Given the description of an element on the screen output the (x, y) to click on. 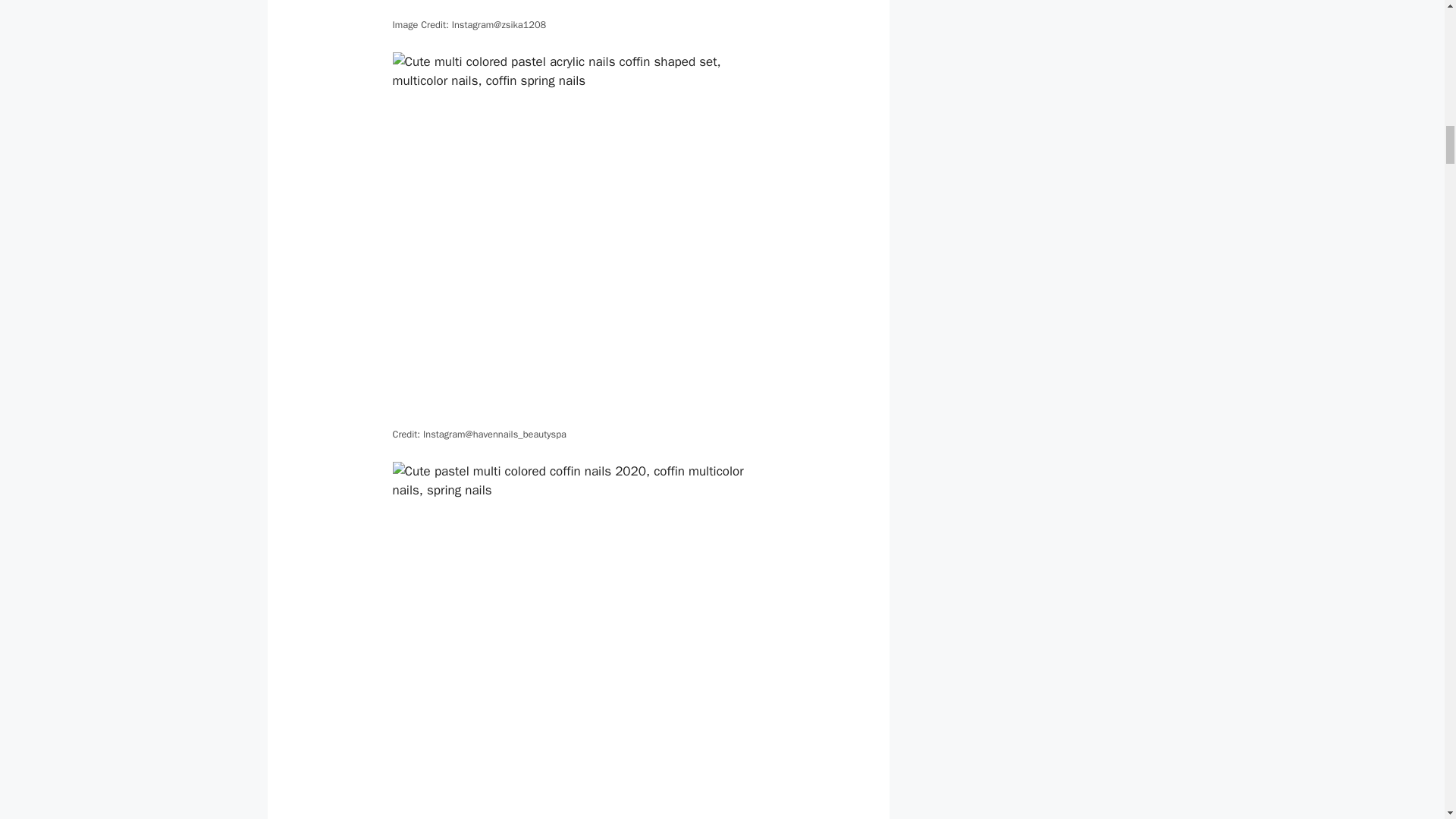
Cute pastel multi colored coffin nails 2020 (578, 640)
